Given the description of an element on the screen output the (x, y) to click on. 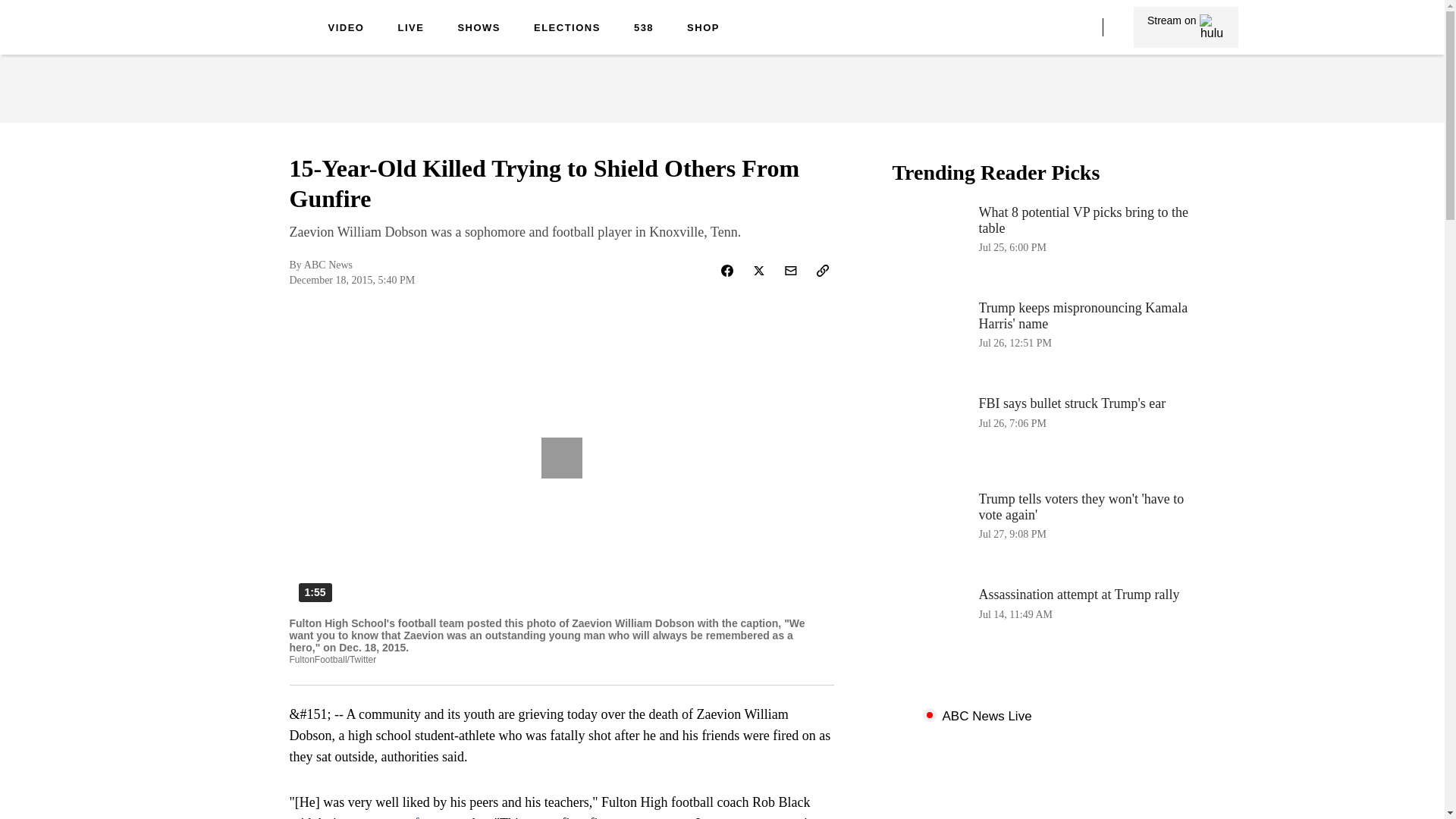
Stream on (1043, 242)
SHOWS (1186, 26)
SHOP (478, 28)
LIVE (703, 28)
ELECTIONS (410, 28)
VIDEO (566, 28)
Stream on (345, 28)
a news conference (1185, 27)
ABC News (403, 817)
538 (250, 38)
